Given the description of an element on the screen output the (x, y) to click on. 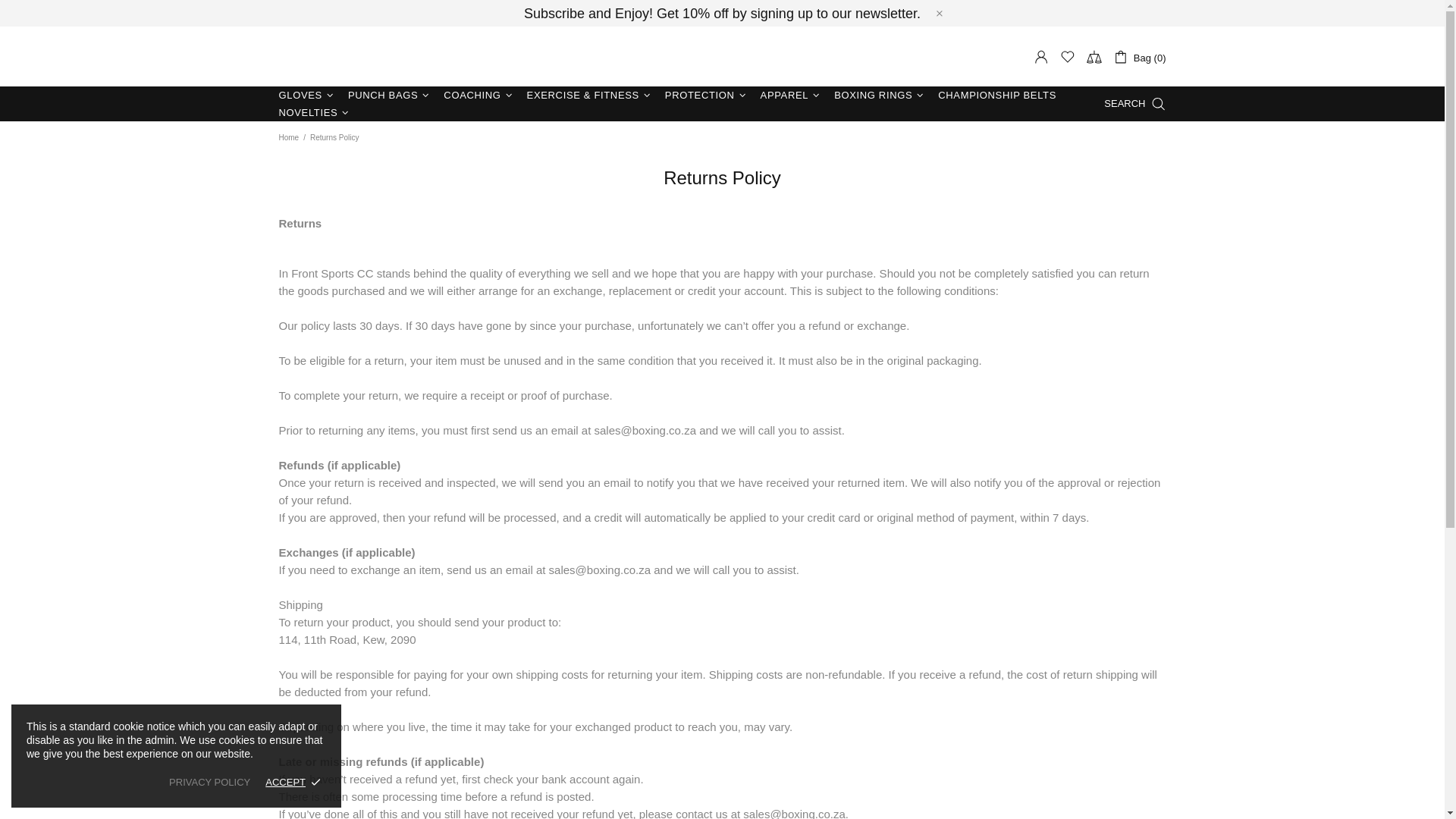
GLOVES (307, 95)
COACHING (479, 95)
TITLE Boxing South Africa (324, 56)
PROTECTION (707, 95)
PUNCH BAGS (390, 95)
